Given the description of an element on the screen output the (x, y) to click on. 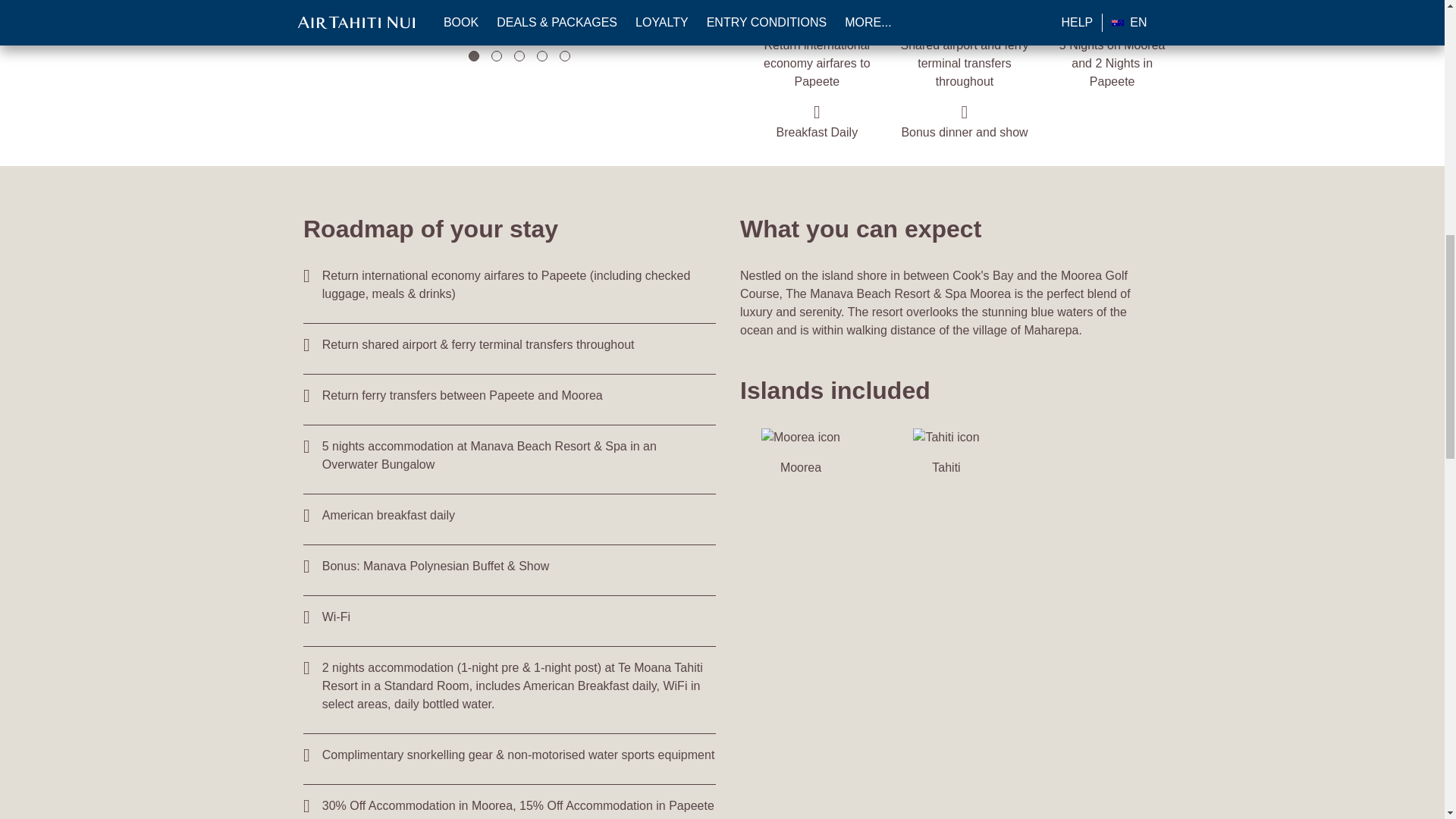
Spacifica Travel Manava Beach Resort and Spa Moorea (278, 7)
Spacifica Travel Manava Beach Resort and Spa Moorea (394, 7)
Spacifica Travel Manava Beach Resort and Spa Moorea (513, 17)
